Given the description of an element on the screen output the (x, y) to click on. 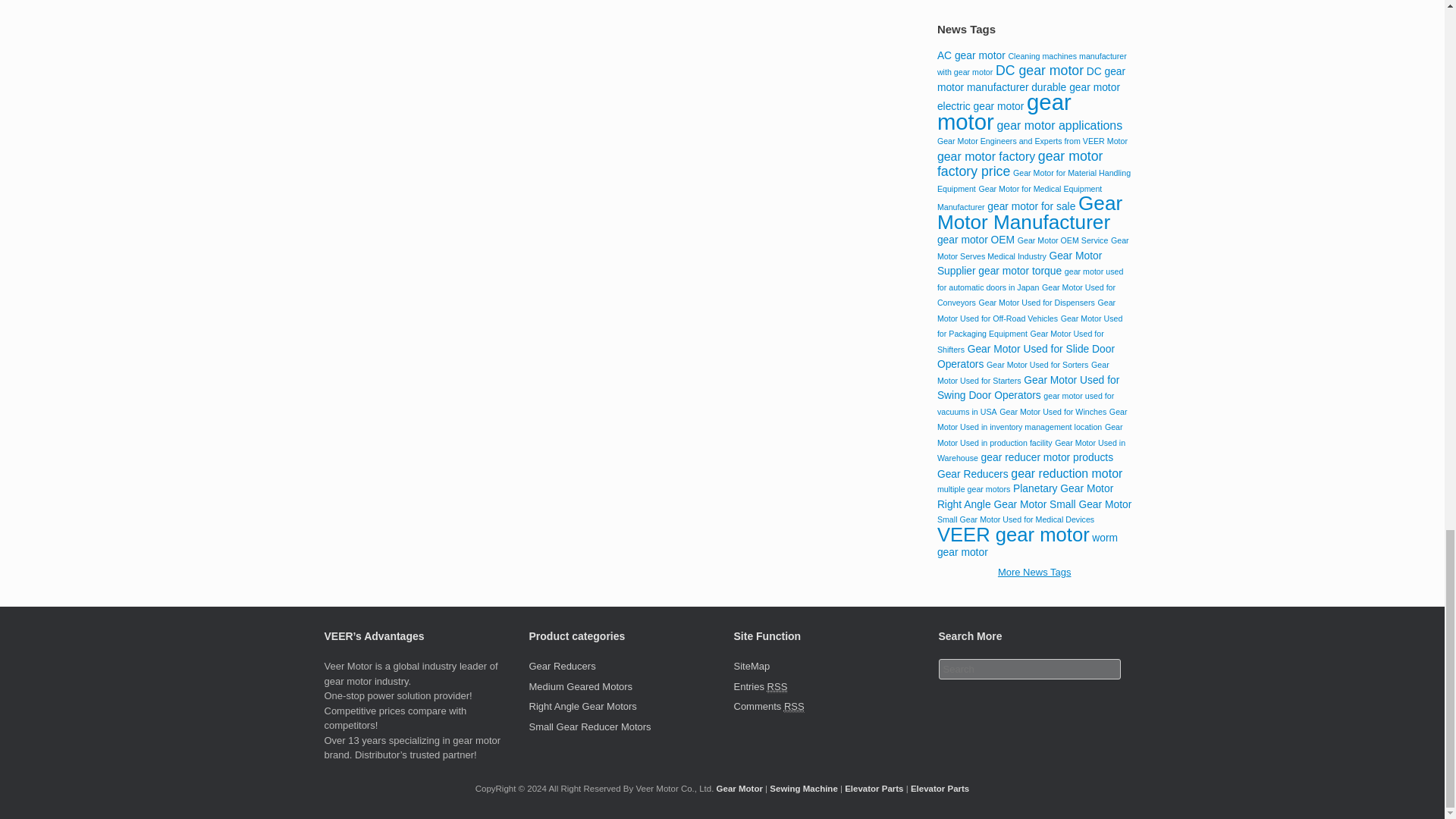
Really Simple Syndication (794, 706)
Really Simple Syndication (777, 686)
